Given the description of an element on the screen output the (x, y) to click on. 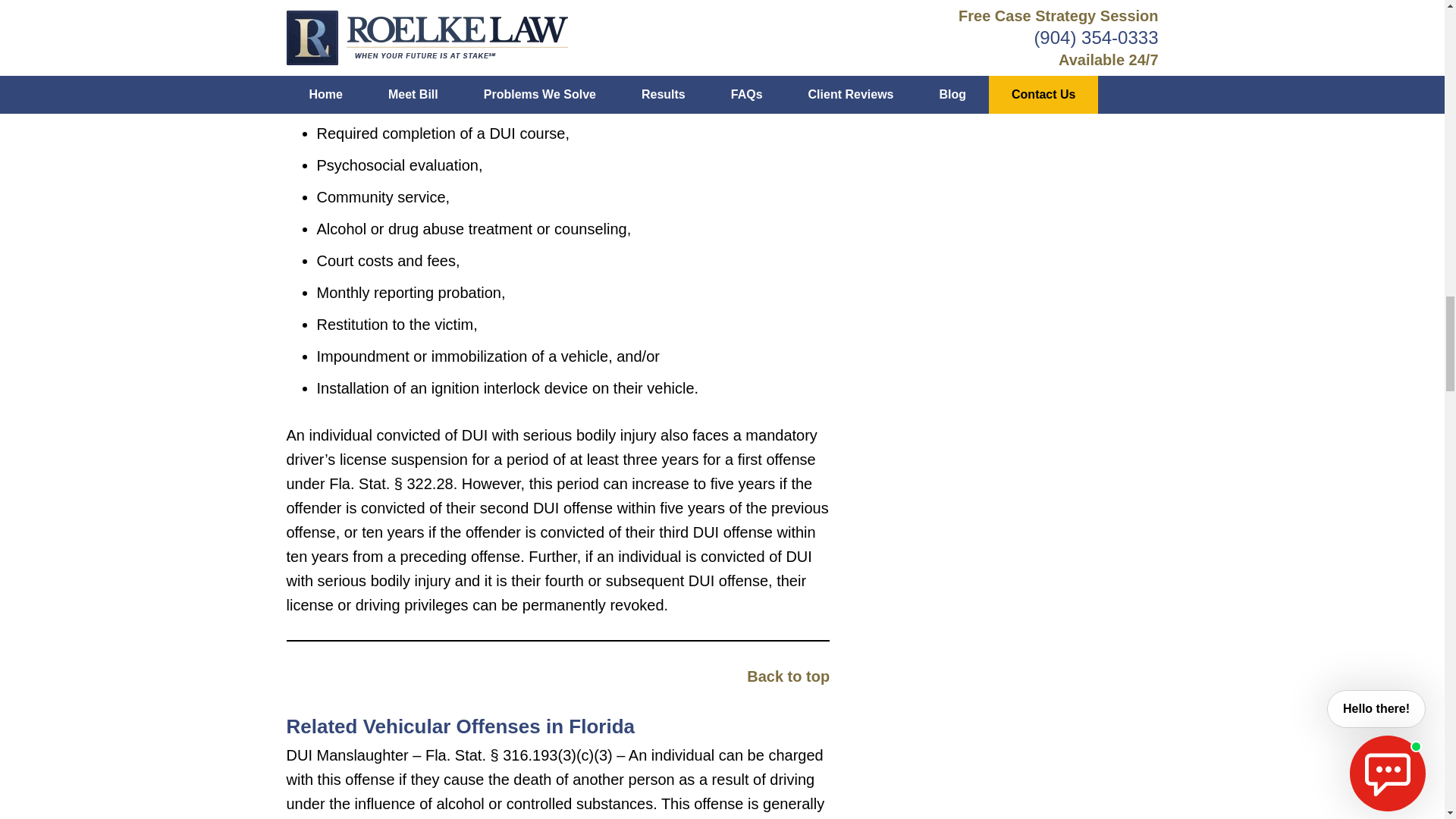
Back to top (787, 676)
